Given the description of an element on the screen output the (x, y) to click on. 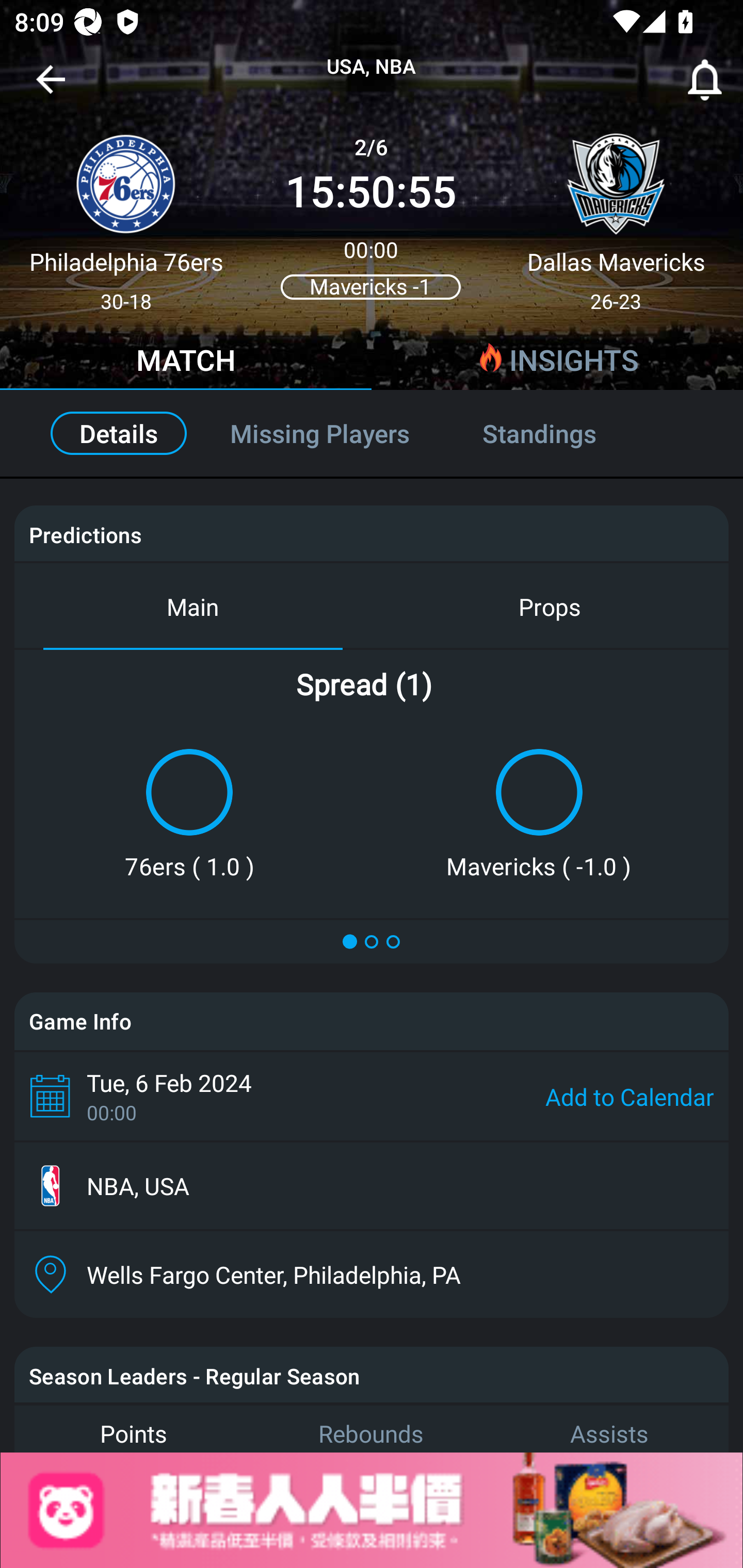
Navigate up (50, 86)
USA, NBA (371, 66)
Philadelphia 76ers 30-18 (126, 214)
Dallas Mavericks 26-23 (616, 214)
MATCH (185, 362)
INSIGHTS (557, 362)
Missing Players (319, 433)
Standings (561, 433)
Predictions (85, 534)
Props (549, 605)
Game Info (371, 1021)
Tue, 6 Feb 2024 00:00 Add to Calendar (371, 1095)
NBA, USA (371, 1186)
Wells Fargo Center, Philadelphia, PA (371, 1273)
Rebounds (371, 1427)
Assists (609, 1427)
Advertisement (371, 1509)
